Given the description of an element on the screen output the (x, y) to click on. 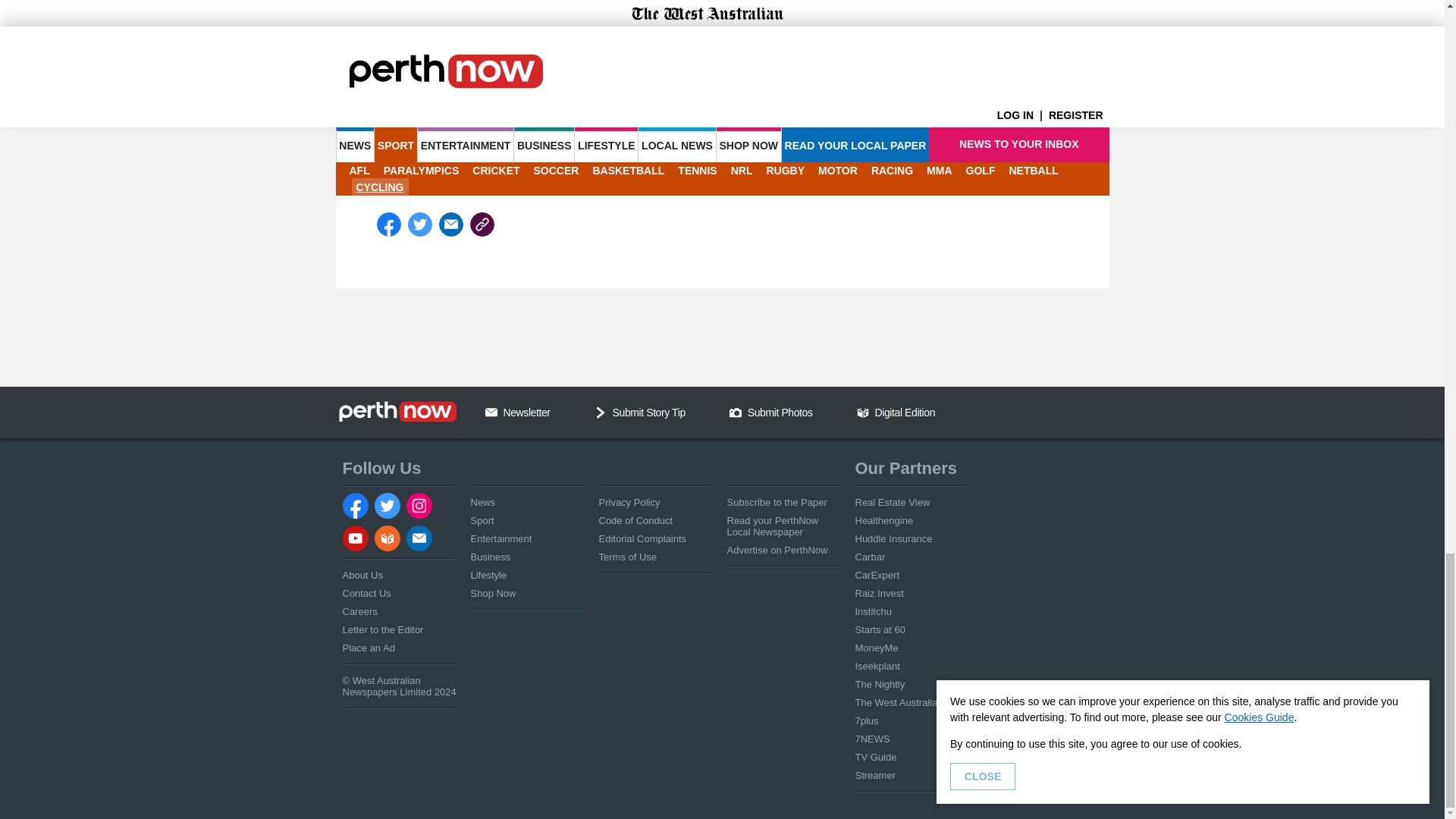
Email Us (490, 412)
Get Digital Edition (863, 412)
Camera Icon (735, 412)
Chevron Down Icon (600, 412)
